Given the description of an element on the screen output the (x, y) to click on. 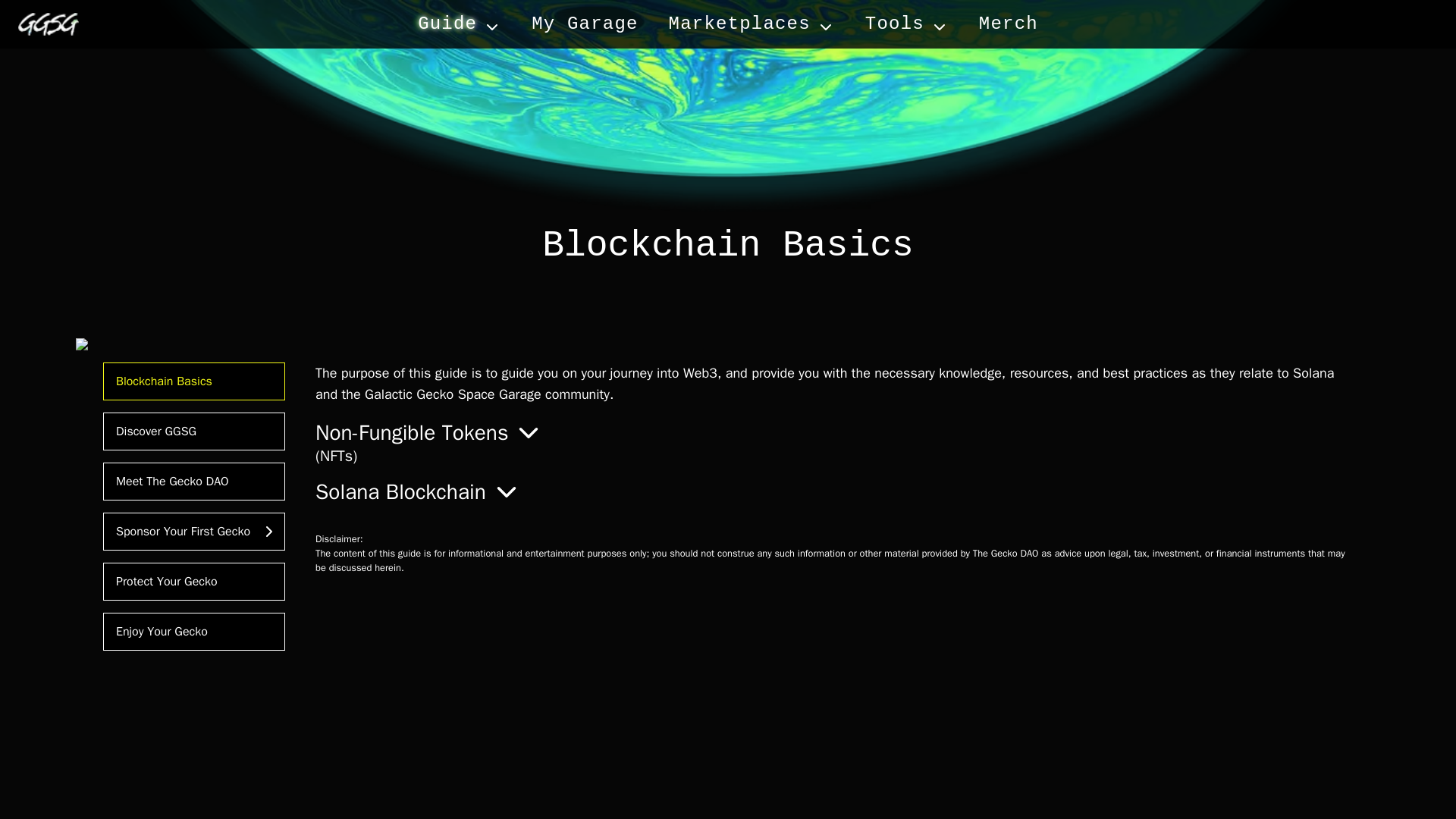
Discover GGSG (194, 431)
My Garage (584, 24)
Sponsor Your First Gecko (194, 531)
Enjoy Your Gecko (194, 631)
Meet The Gecko DAO (194, 481)
Protect Your Gecko (194, 581)
Merch (1008, 24)
Blockchain Basics (194, 381)
